Given the description of an element on the screen output the (x, y) to click on. 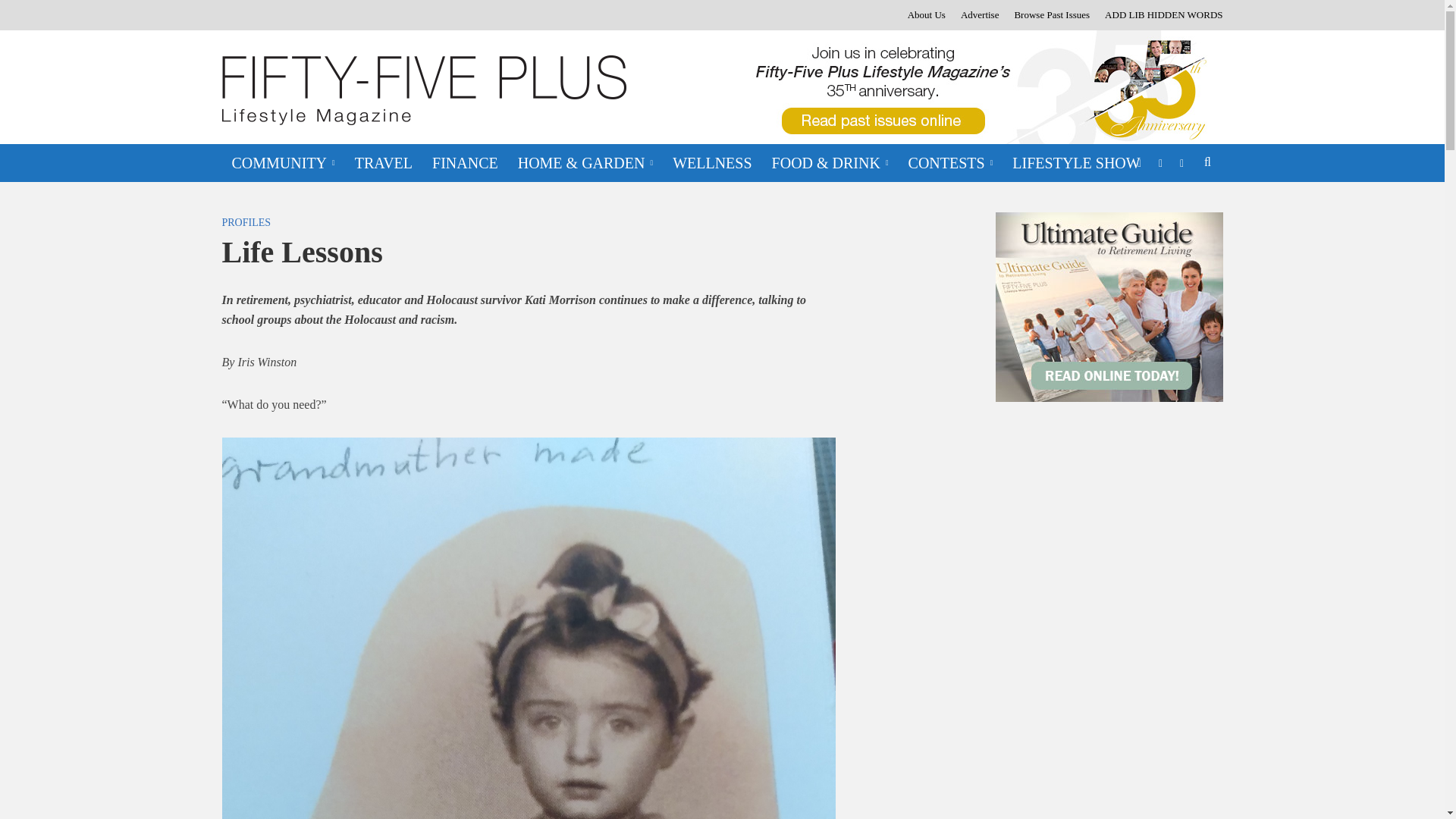
Browse Past Issues (1051, 15)
TRAVEL (383, 162)
About Us (926, 15)
FINANCE (465, 162)
LIFESTYLE SHOW (1076, 162)
COMMUNITY (282, 162)
ADD LIB HIDDEN WORDS (1160, 15)
CONTESTS (950, 162)
Advertise (980, 15)
WELLNESS (711, 162)
